Given the description of an element on the screen output the (x, y) to click on. 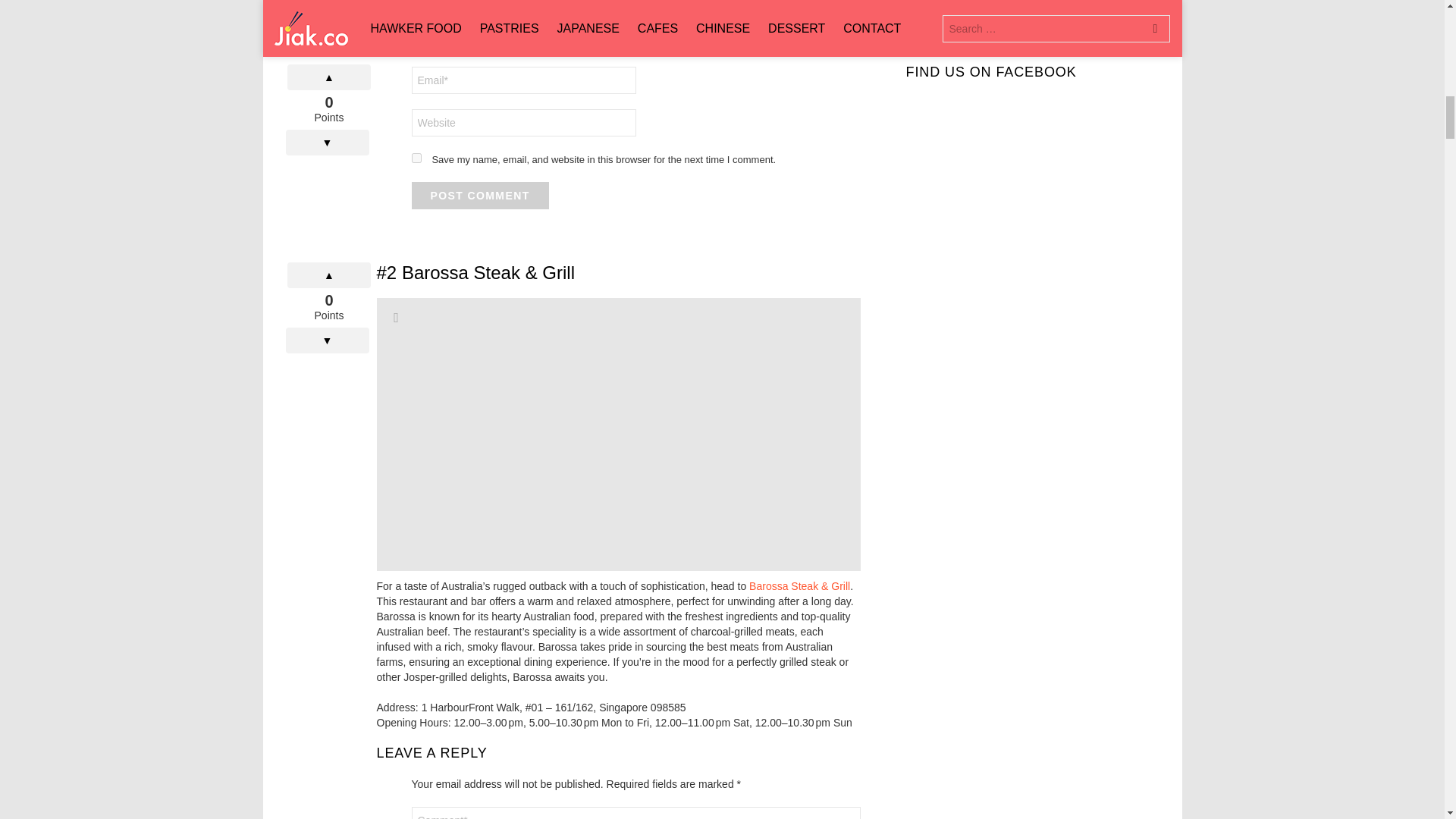
Downvote (326, 339)
yes (415, 157)
Post Comment (479, 195)
Upvote (328, 275)
Share (395, 317)
Post Comment (479, 195)
